Given the description of an element on the screen output the (x, y) to click on. 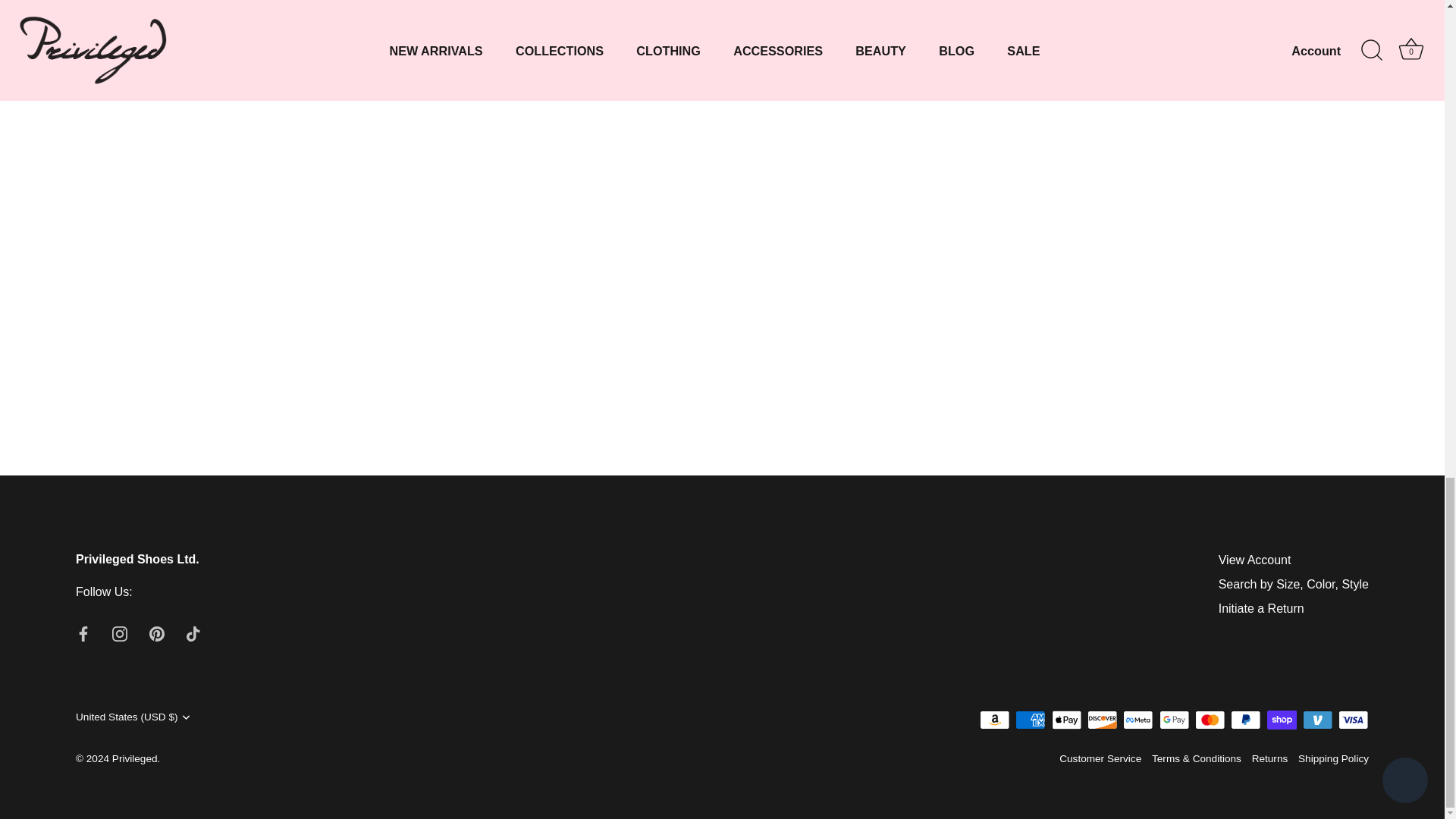
Google Pay (1173, 719)
Amazon (994, 719)
Apple Pay (1066, 719)
Mastercard (1209, 719)
Instagram (120, 633)
Pinterest (156, 633)
Visa (1353, 719)
Discover (1101, 719)
PayPal (1245, 719)
American Express (1029, 719)
